Given the description of an element on the screen output the (x, y) to click on. 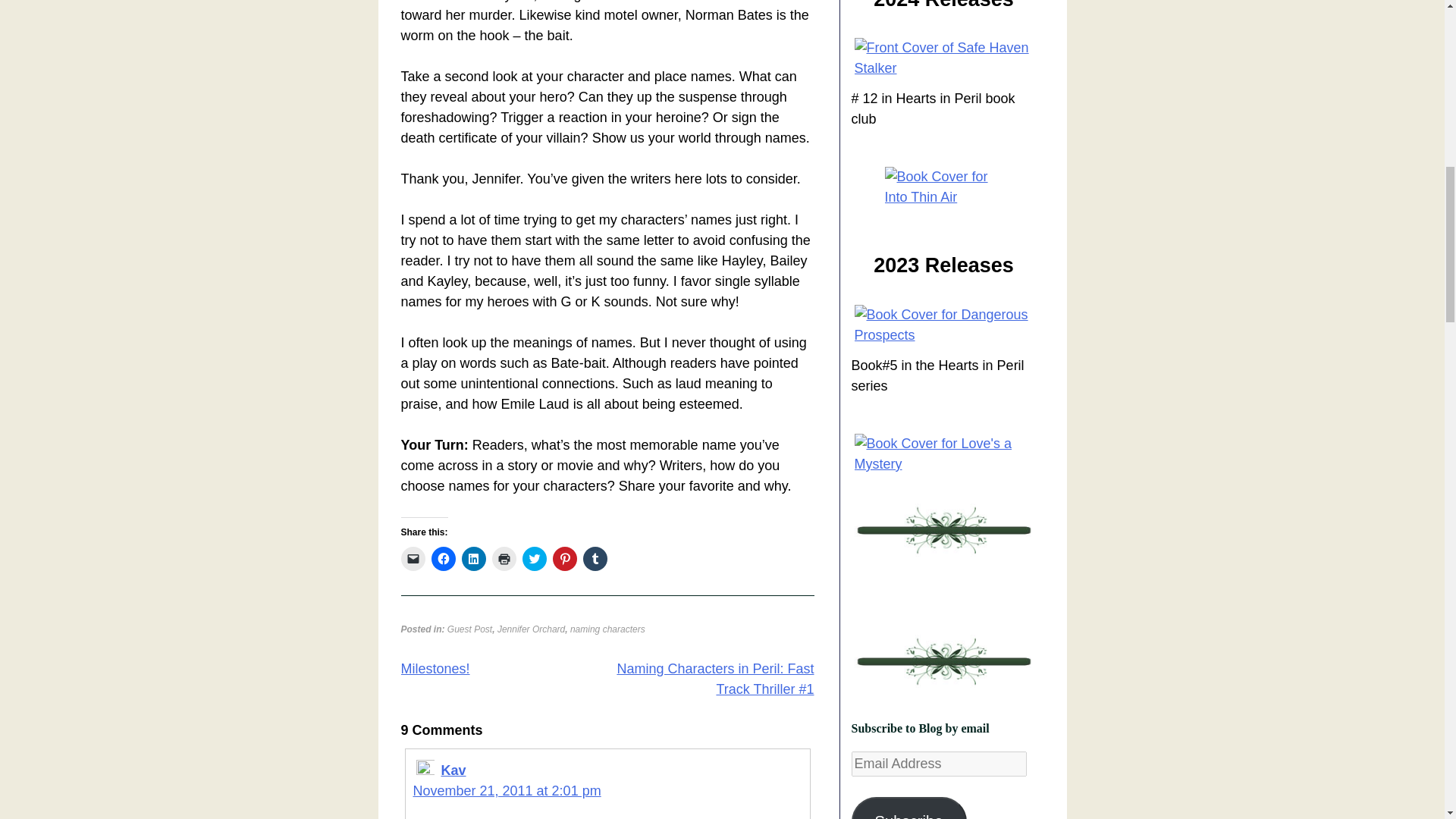
Click to share on Twitter (533, 558)
Click to email a link to a friend (412, 558)
Click to share on Facebook (442, 558)
Click to share on Tumblr (594, 558)
Click to share on LinkedIn (472, 558)
Click to share on Pinterest (563, 558)
Click to print (503, 558)
